Given the description of an element on the screen output the (x, y) to click on. 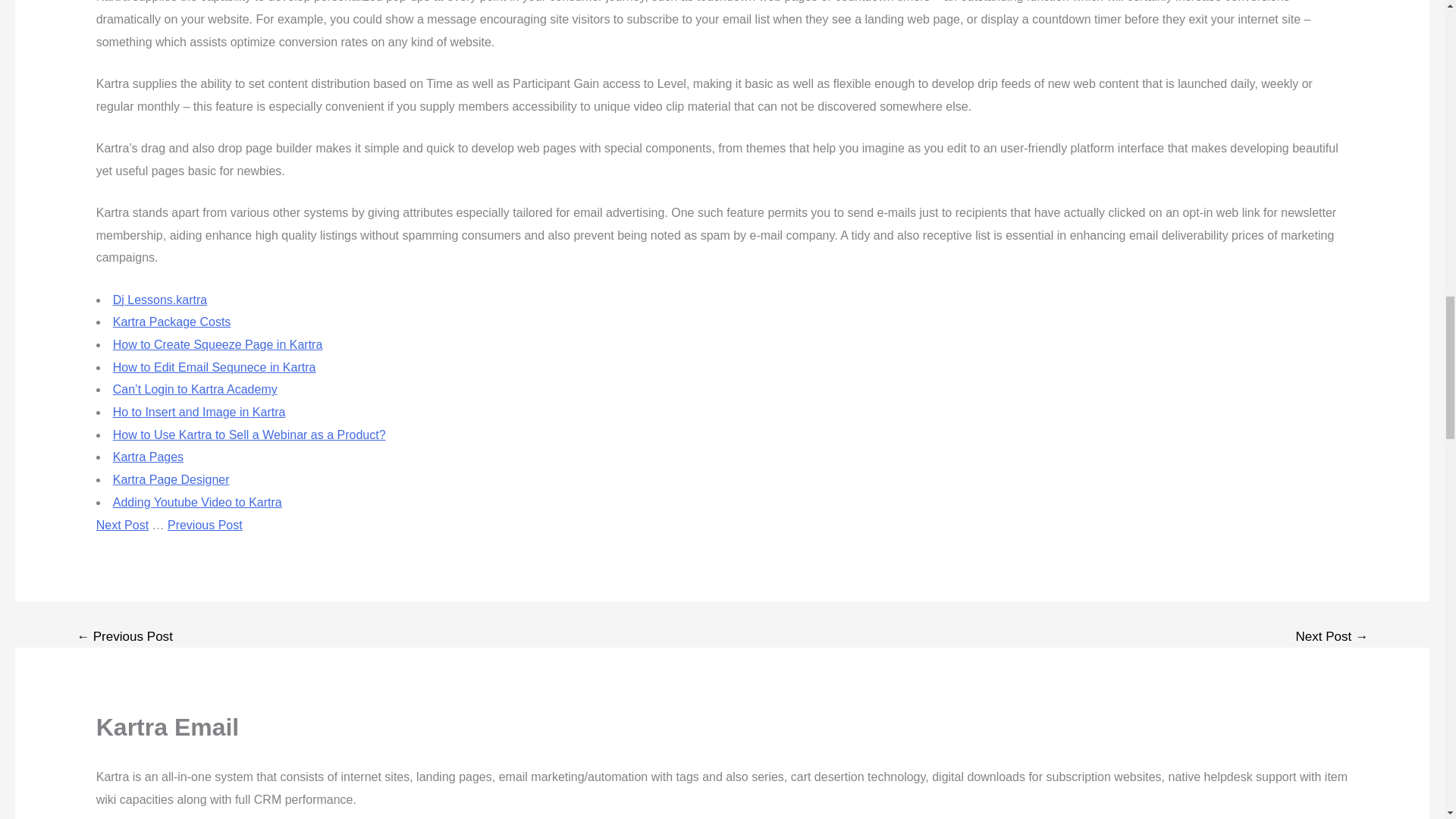
How to Use Kartra to Sell a Webinar as a Product? (249, 434)
How to Create Squeeze Page in Kartra (218, 344)
Kartra Package Costs (172, 321)
Kartra Page Designer (171, 479)
Dj Lessons.kartra (160, 299)
Kartra Pages (148, 456)
Previous Post (205, 524)
Dj Lessons.kartra (160, 299)
How to Create Squeeze Page in Kartra (218, 344)
Kartra Package Costs (172, 321)
Ho to Insert and Image in Kartra (199, 411)
Kartra Pages (148, 456)
How to Edit Email Sequnece in Kartra (214, 367)
Ho to Insert and Image in Kartra (199, 411)
Adding Youtube Video to Kartra (197, 502)
